Given the description of an element on the screen output the (x, y) to click on. 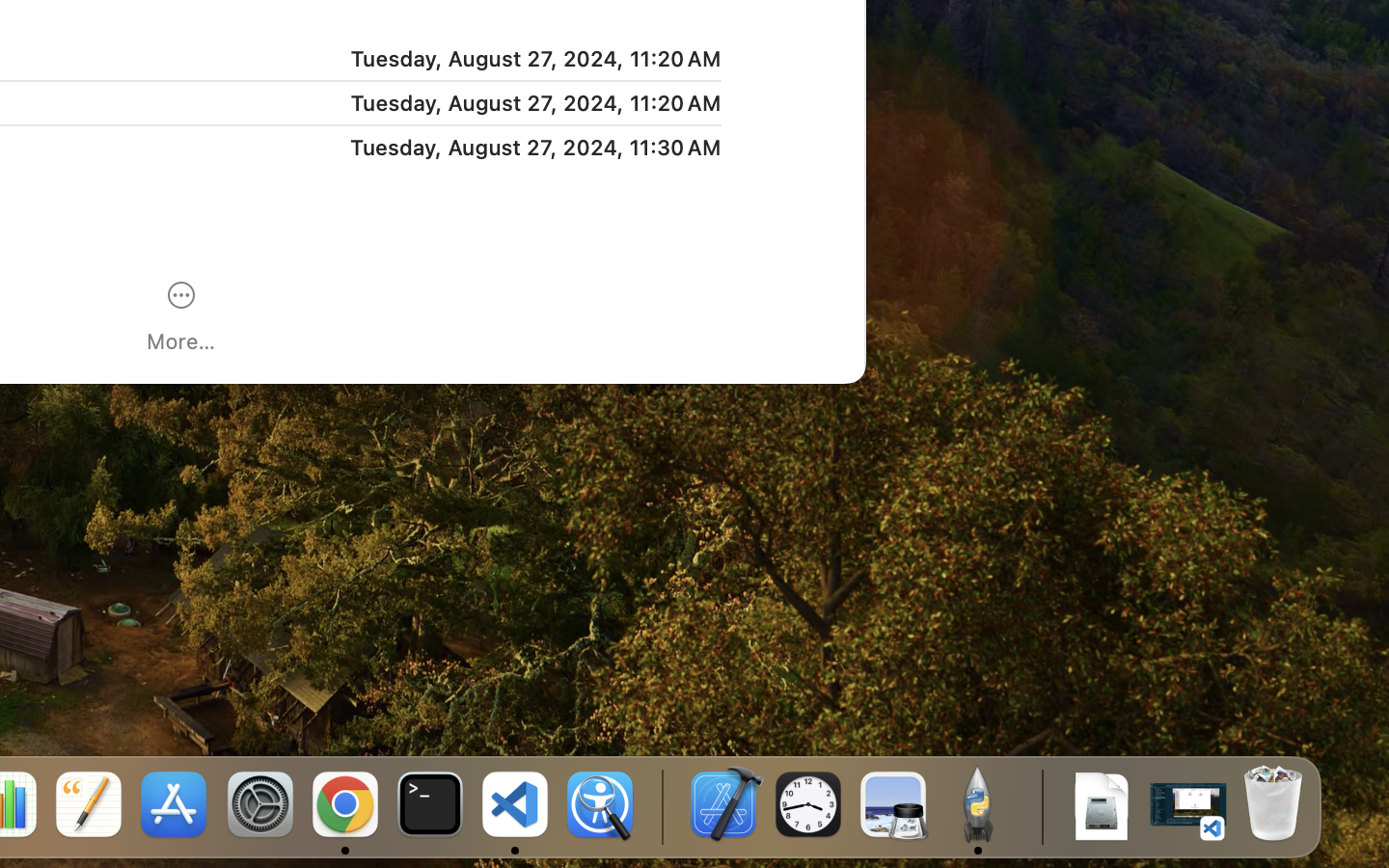
0.4285714328289032 Element type: AXDockItem (660, 805)
